Given the description of an element on the screen output the (x, y) to click on. 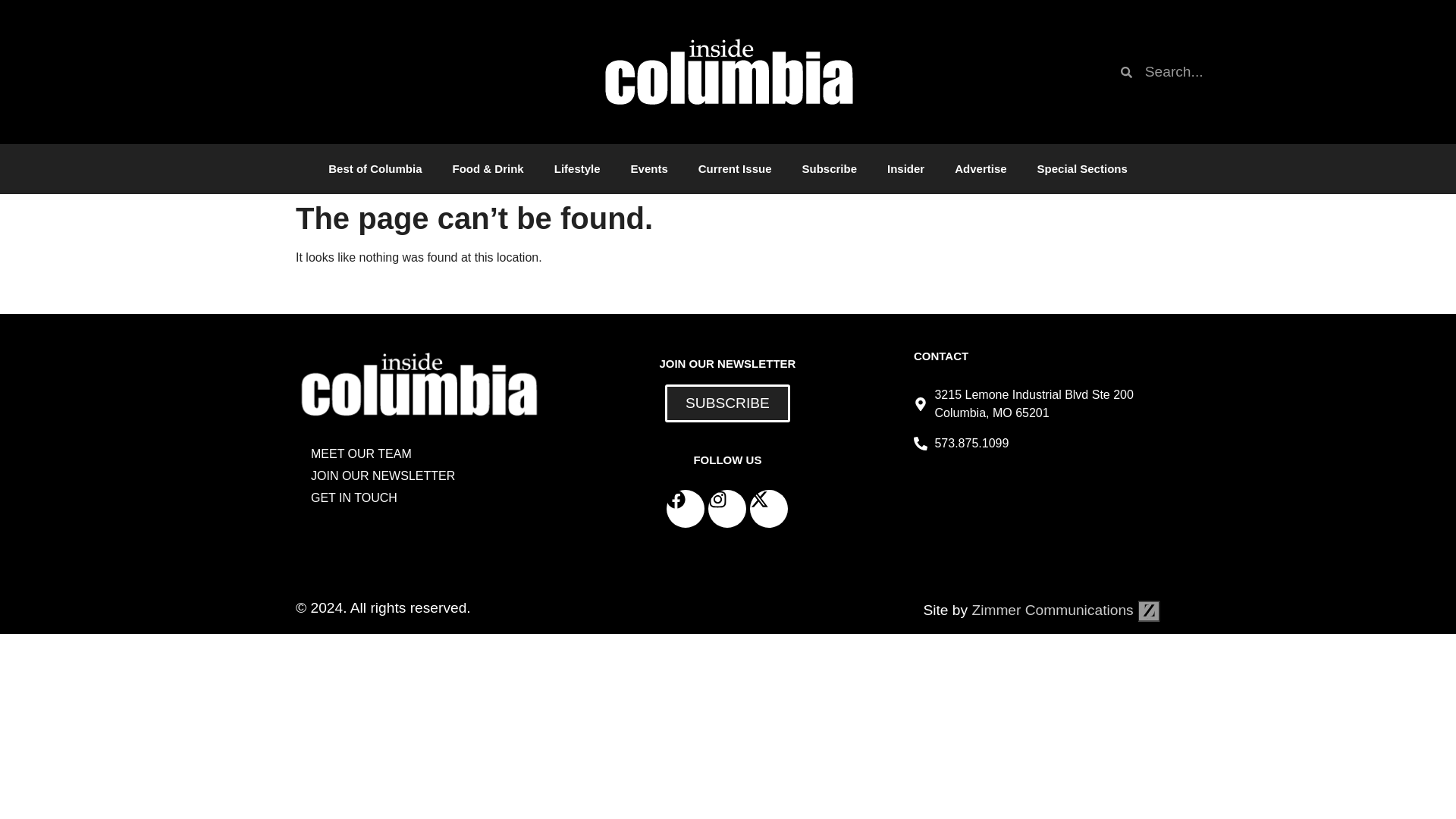
Current Issue (734, 168)
Lifestyle (576, 168)
Subscribe (829, 168)
Insider (905, 168)
Best of Columbia (374, 168)
Events (648, 168)
